Given the description of an element on the screen output the (x, y) to click on. 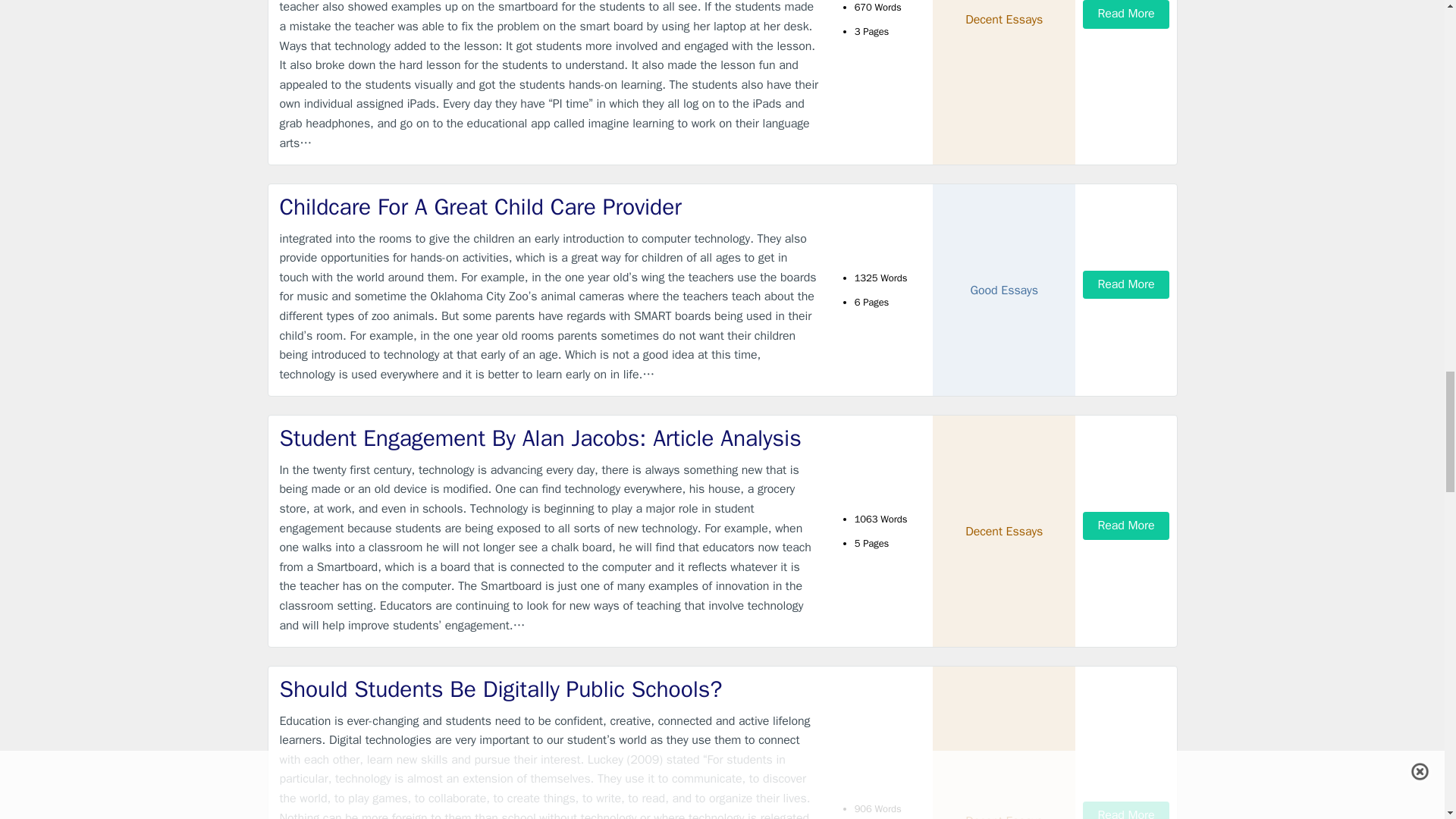
Read More (1126, 284)
Childcare For A Great Child Care Provider (548, 206)
Read More (1126, 13)
